Given the description of an element on the screen output the (x, y) to click on. 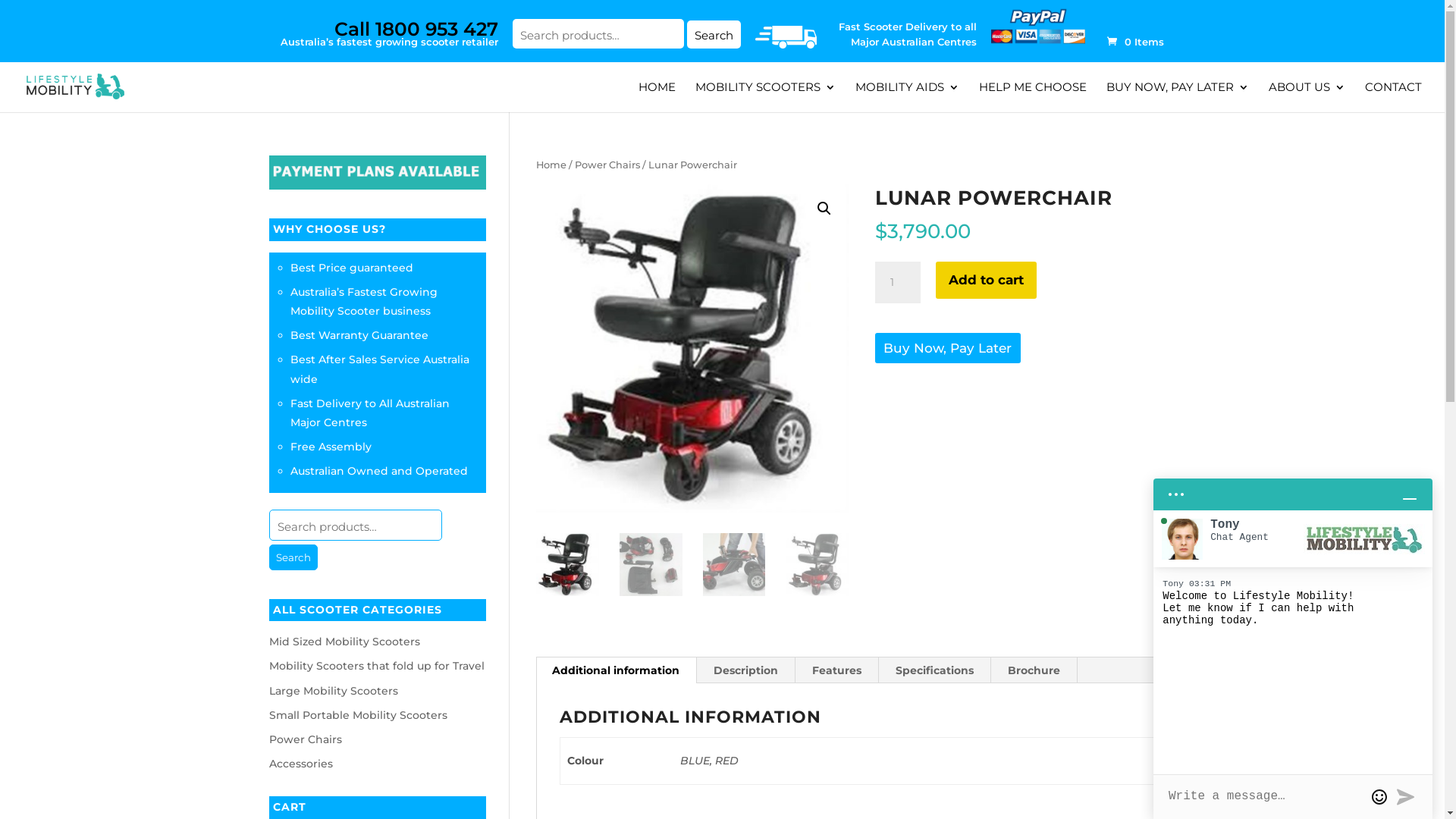
Additional information Element type: text (615, 670)
Search Element type: text (626, 43)
HELP ME CHOOSE Element type: text (1032, 96)
HOME Element type: text (656, 96)
346.jpg Element type: hover (692, 348)
Qty Element type: hover (897, 282)
Add to cart Element type: text (985, 279)
Specifications Element type: text (934, 670)
Fast Scooter Delivery to all
Major Australian Centres Element type: text (907, 37)
Mid Sized Mobility Scooters Element type: text (343, 641)
Mobility Scooters that fold up for Travel Element type: text (375, 665)
0 Items Element type: text (1130, 41)
Home Element type: text (551, 164)
MOBILITY SCOOTERS Element type: text (765, 96)
Brochure Element type: text (1033, 670)
Buy Now, Pay Later Element type: text (948, 347)
Features Element type: text (836, 670)
Search Element type: text (292, 557)
BUY NOW, PAY LATER Element type: text (1177, 96)
Power Chairs Element type: text (607, 164)
ABOUT US Element type: text (1306, 96)
MOBILITY AIDS Element type: text (907, 96)
Power Chairs Element type: text (304, 739)
Description Element type: text (745, 670)
Small Portable Mobility Scooters Element type: text (357, 714)
Search Element type: text (713, 34)
Large Mobility Scooters Element type: text (332, 690)
CONTACT Element type: text (1393, 96)
Accessories Element type: text (300, 763)
